Given the description of an element on the screen output the (x, y) to click on. 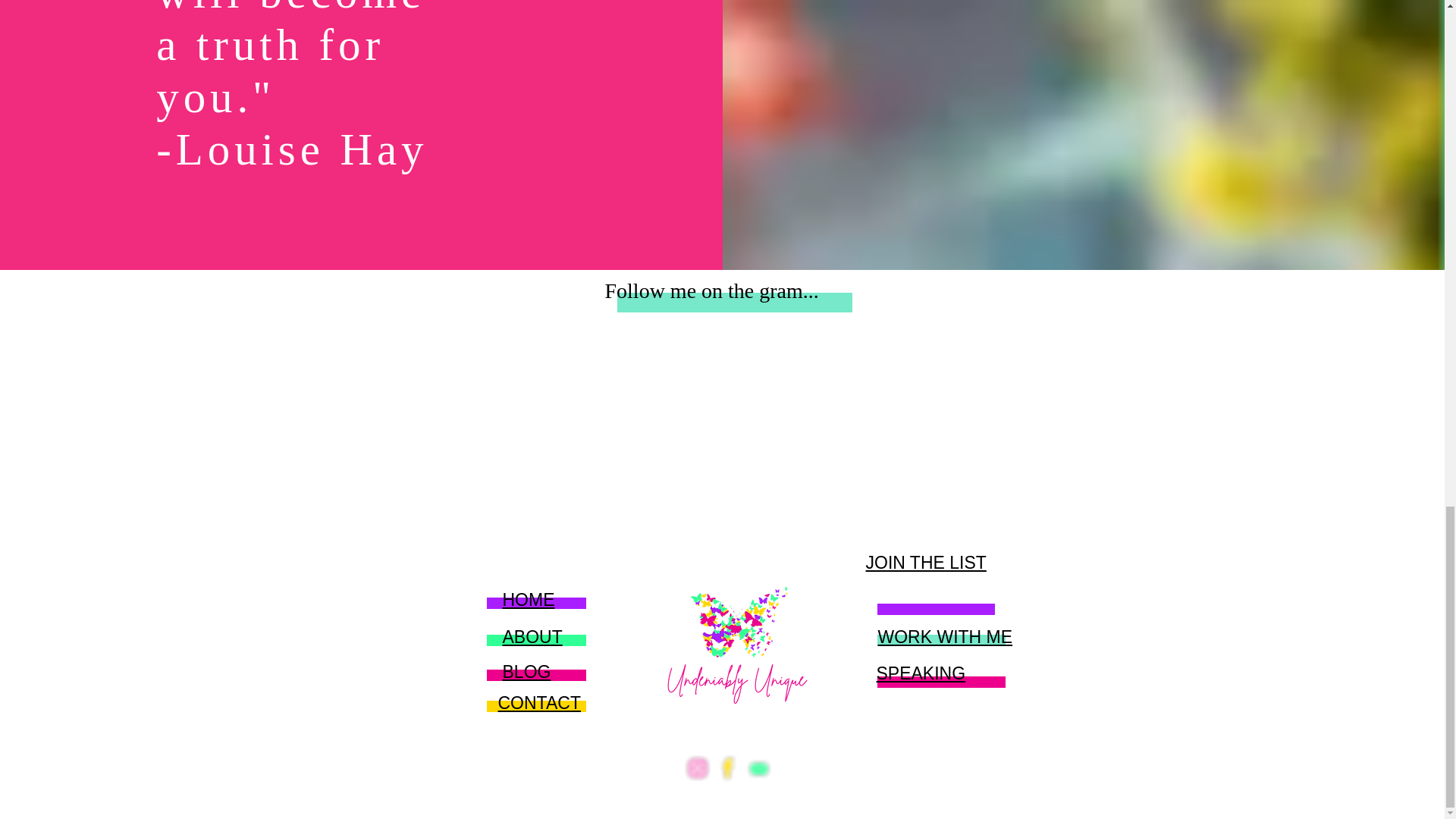
JOIN THE LIST (926, 562)
SPEAKING (921, 673)
HOME (528, 599)
WORK WITH ME (945, 637)
CONTACT (538, 702)
BLOG (526, 671)
ABOUT (532, 637)
